Given the description of an element on the screen output the (x, y) to click on. 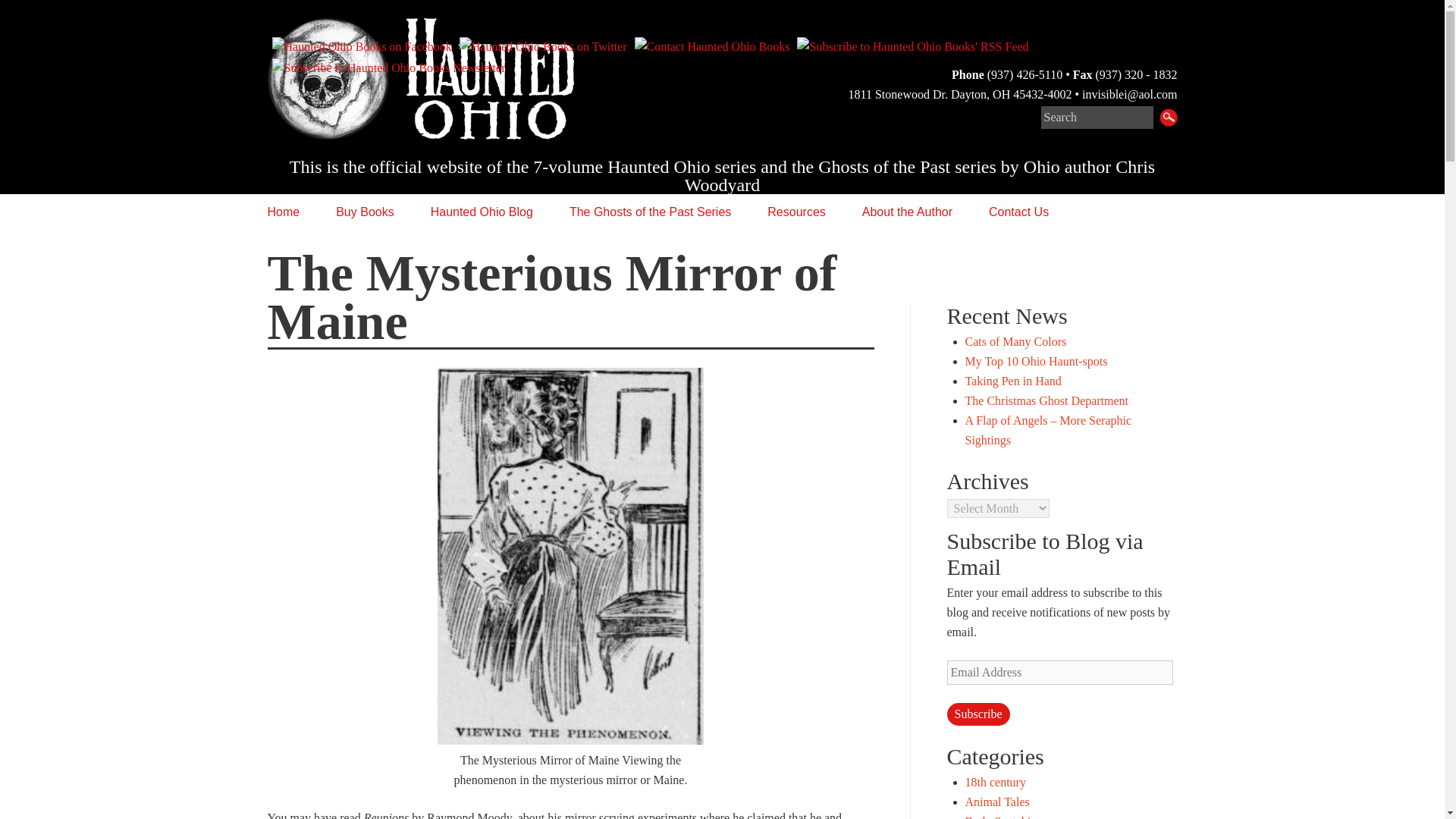
Search (1097, 117)
Haunted Ohio Books on Facebook (362, 45)
The Blog of Chris Woodyard (481, 212)
Contact Us (1018, 212)
Buy Books (364, 212)
Buy Haunted Ohio Books (364, 212)
Resources from Haunted Ohio Books (796, 212)
Haunted Ohio Blog (481, 212)
Subscribe (977, 713)
Haunted Ohio Books on Twitter (545, 45)
